Given the description of an element on the screen output the (x, y) to click on. 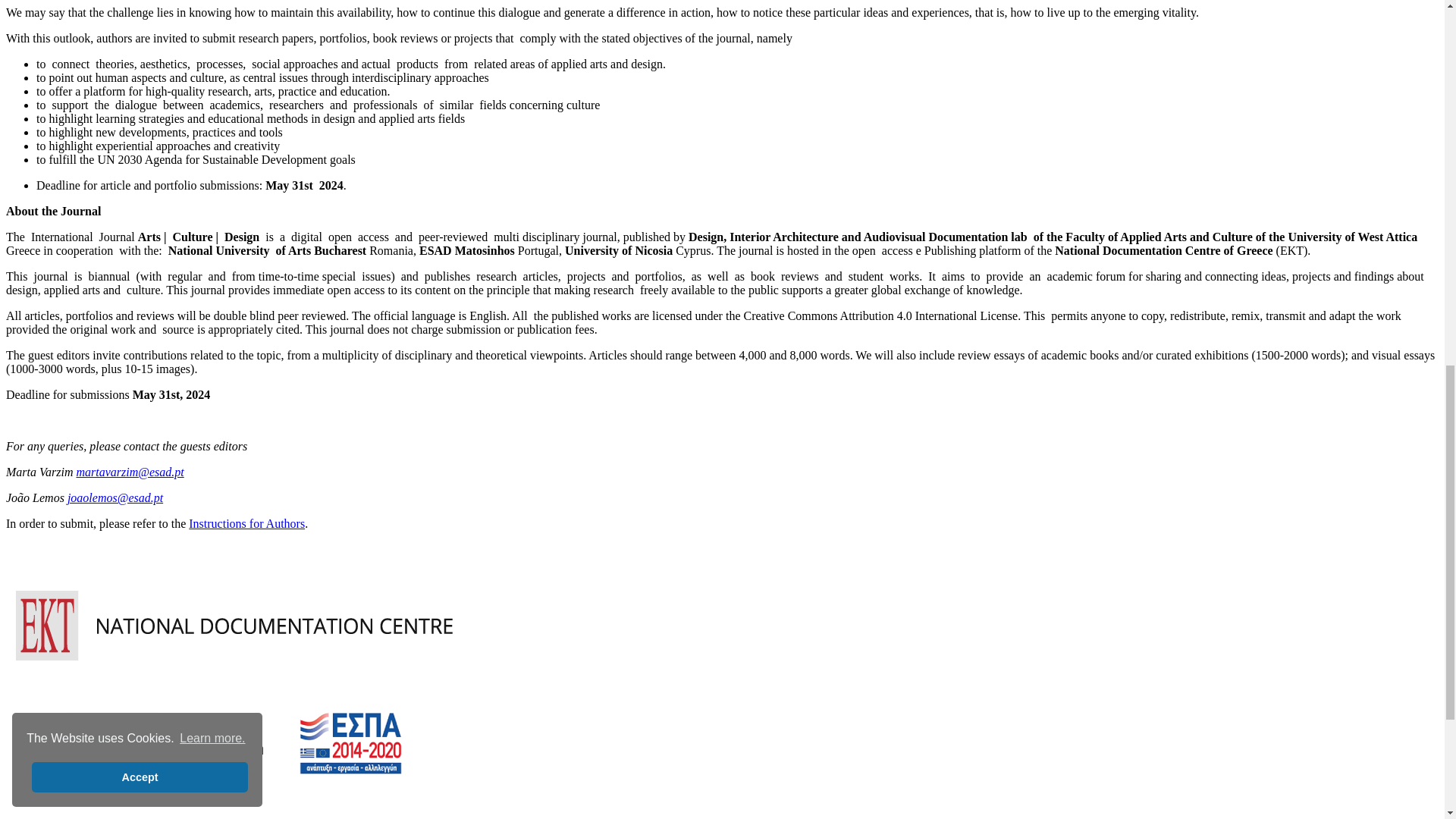
Instructions for Authors (246, 522)
